Given the description of an element on the screen output the (x, y) to click on. 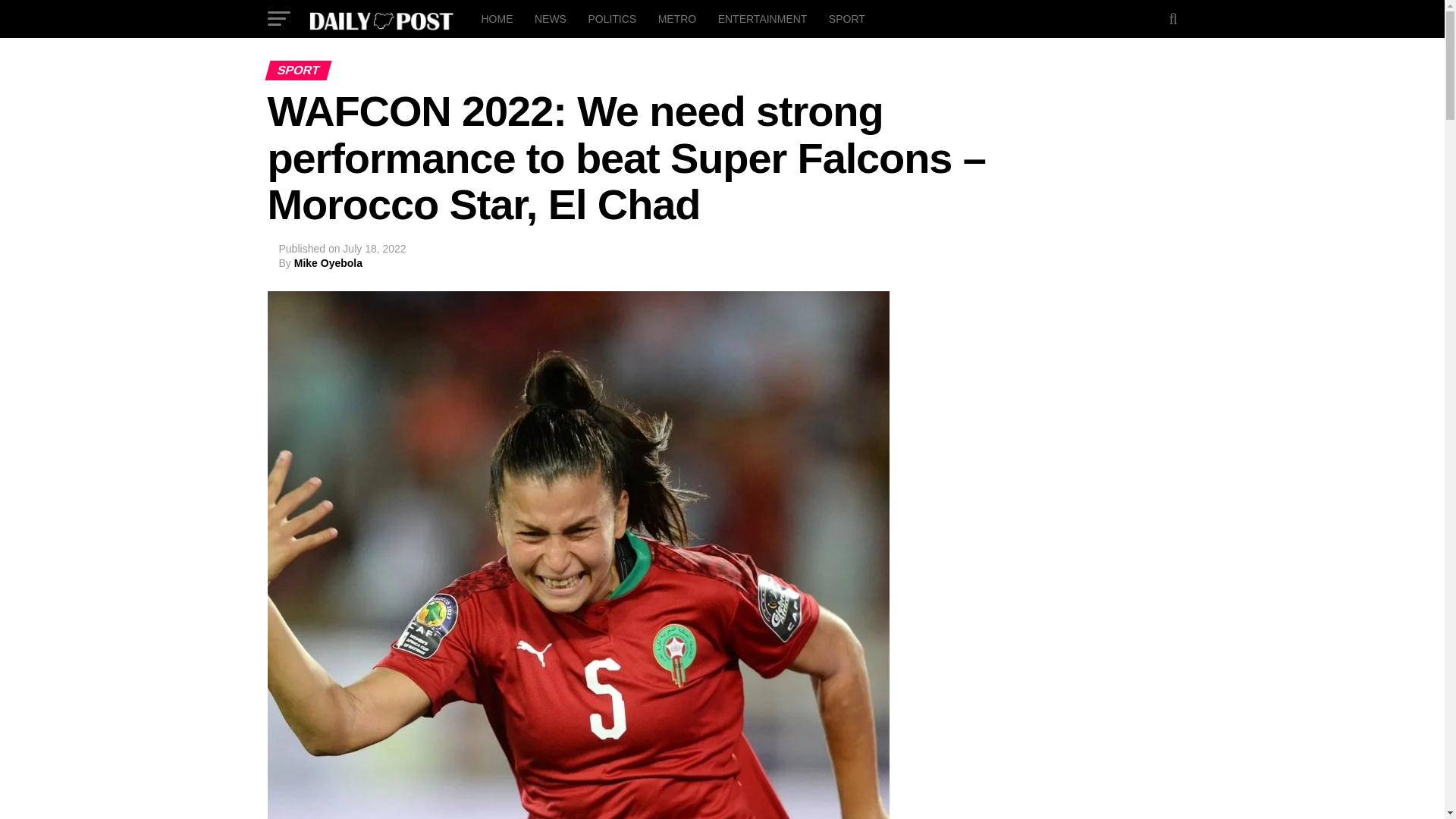
Mike Oyebola (328, 263)
NEWS (550, 18)
POLITICS (611, 18)
Posts by Mike Oyebola (328, 263)
HOME (496, 18)
SPORT (847, 18)
ENTERTAINMENT (762, 18)
METRO (677, 18)
